Given the description of an element on the screen output the (x, y) to click on. 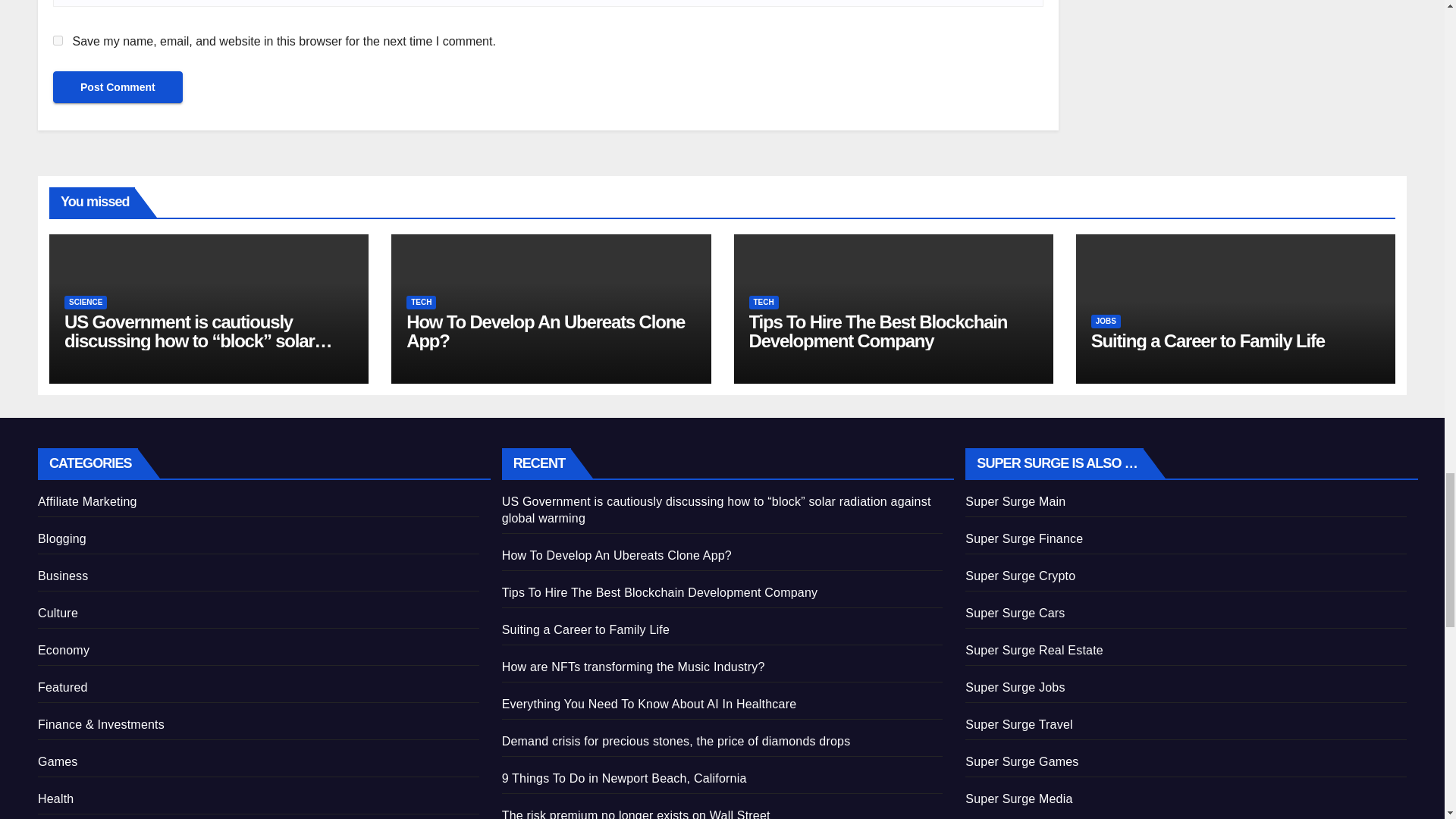
Post Comment (117, 87)
yes (57, 40)
